Given the description of an element on the screen output the (x, y) to click on. 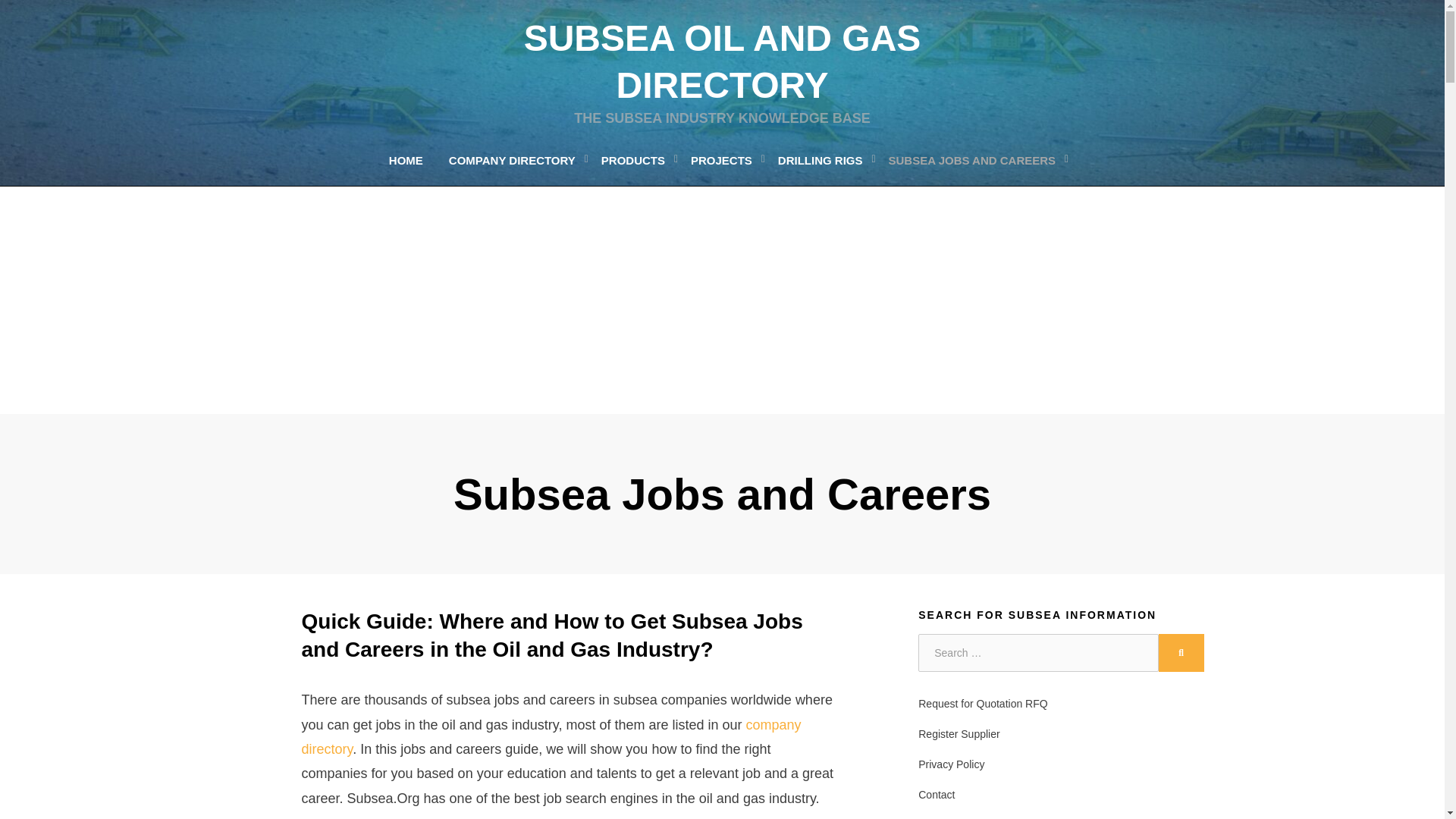
Subsea Oil and Gas Directory (722, 61)
SUBSEA OIL AND GAS DIRECTORY (722, 61)
HOME (405, 159)
COMPANY DIRECTORY (511, 159)
Search for: (1037, 652)
